Given the description of an element on the screen output the (x, y) to click on. 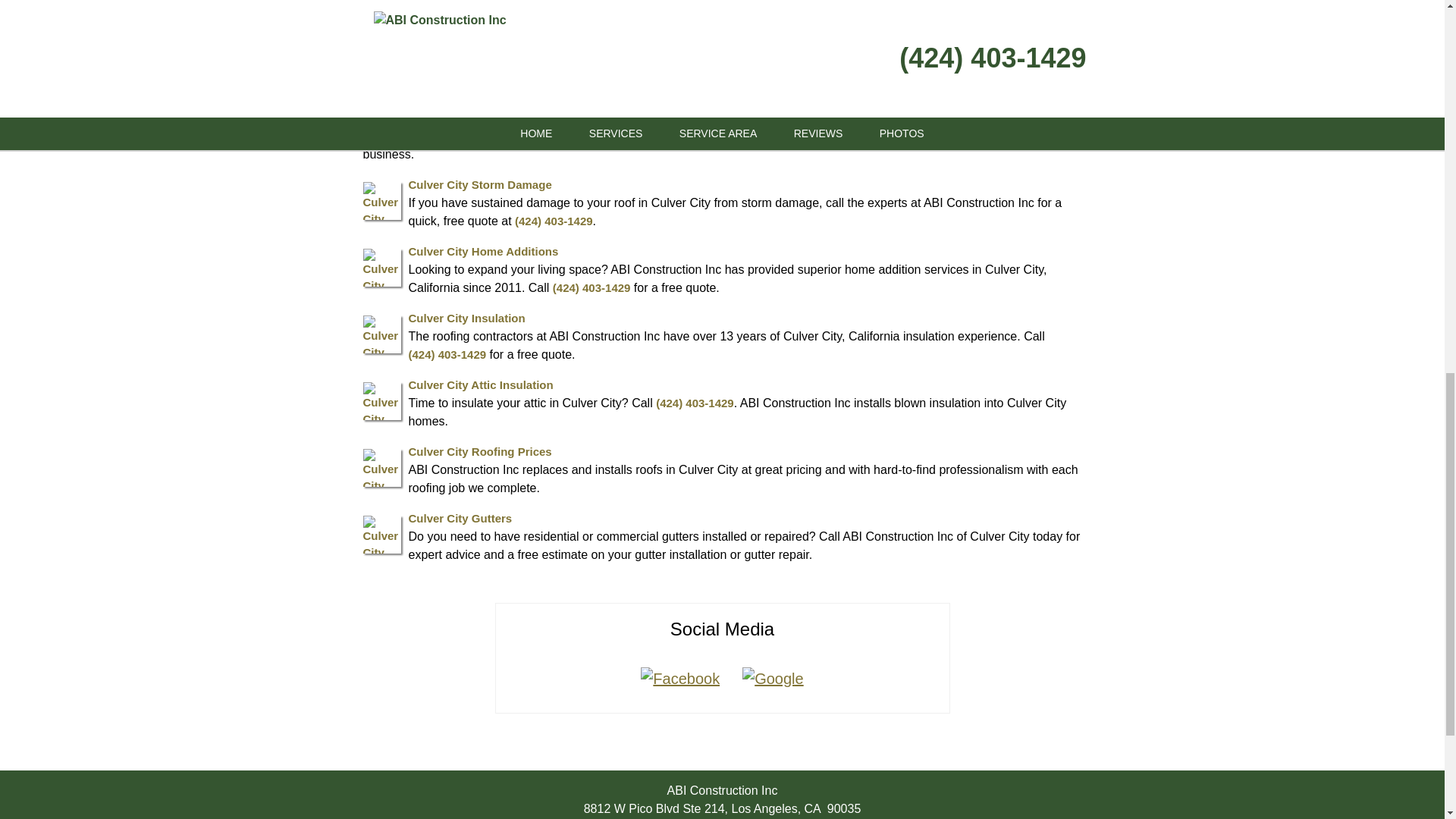
Google (772, 678)
Culver City Storm Damage (479, 183)
Culver City Roof Repair (471, 31)
Facebook (679, 678)
Culver City Shingle Roofs (477, 98)
